Given the description of an element on the screen output the (x, y) to click on. 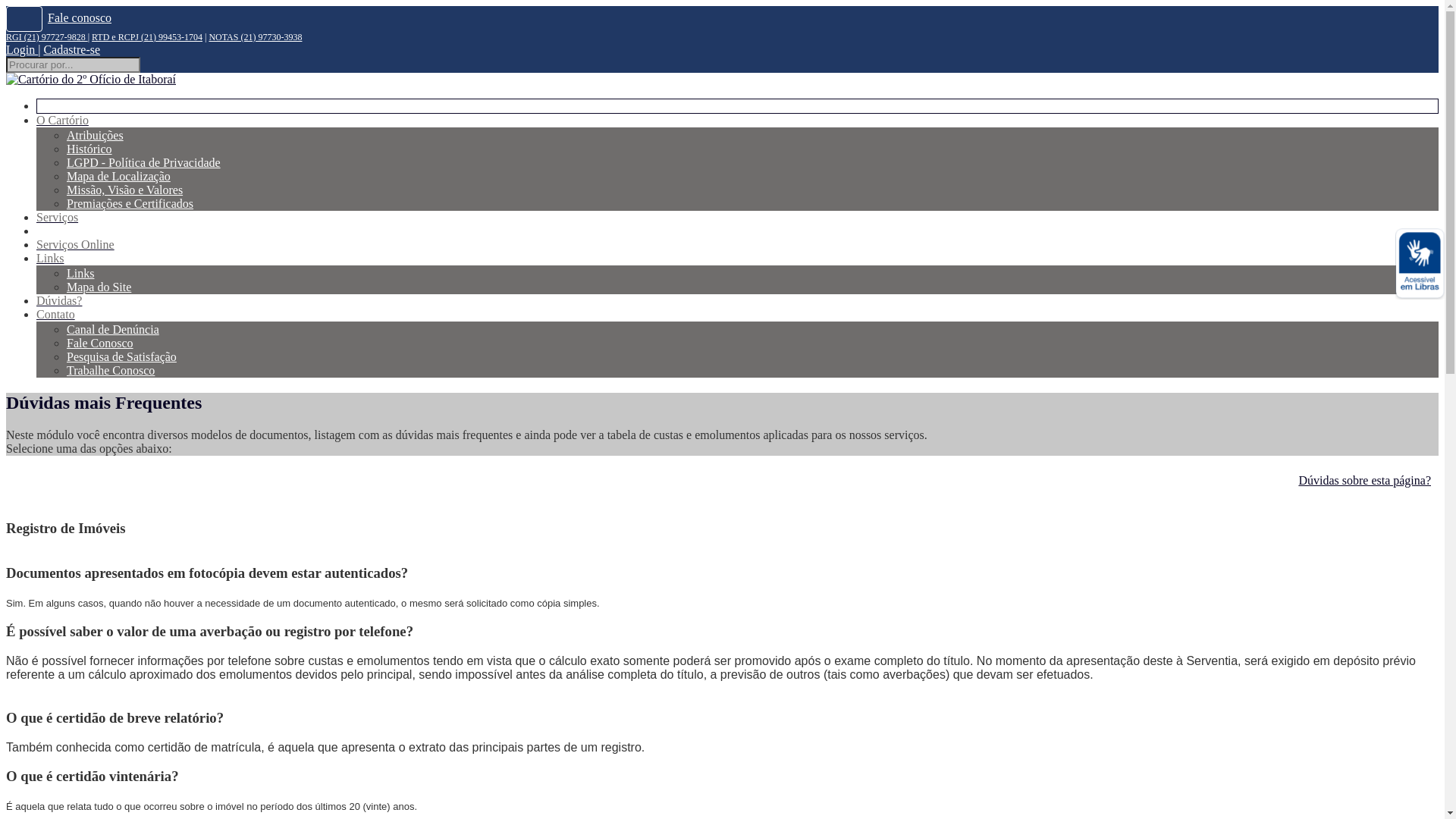
RGI (21) 97727-9828 Element type: text (46, 36)
Links Element type: text (49, 257)
Login Element type: text (21, 49)
Mapa do Site Element type: text (98, 286)
Cadastre-se Element type: text (71, 49)
NOTAS (21) 97730-3938 Element type: text (254, 36)
Contato Element type: text (55, 313)
Fale Conosco Element type: text (99, 342)
Trabalhe Conosco Element type: text (110, 370)
Links Element type: text (80, 272)
Fale conosco Element type: text (79, 17)
RTD e RCPJ (21) 99453-1704 Element type: text (146, 36)
Instagram Element type: hover (24, 18)
